Given the description of an element on the screen output the (x, y) to click on. 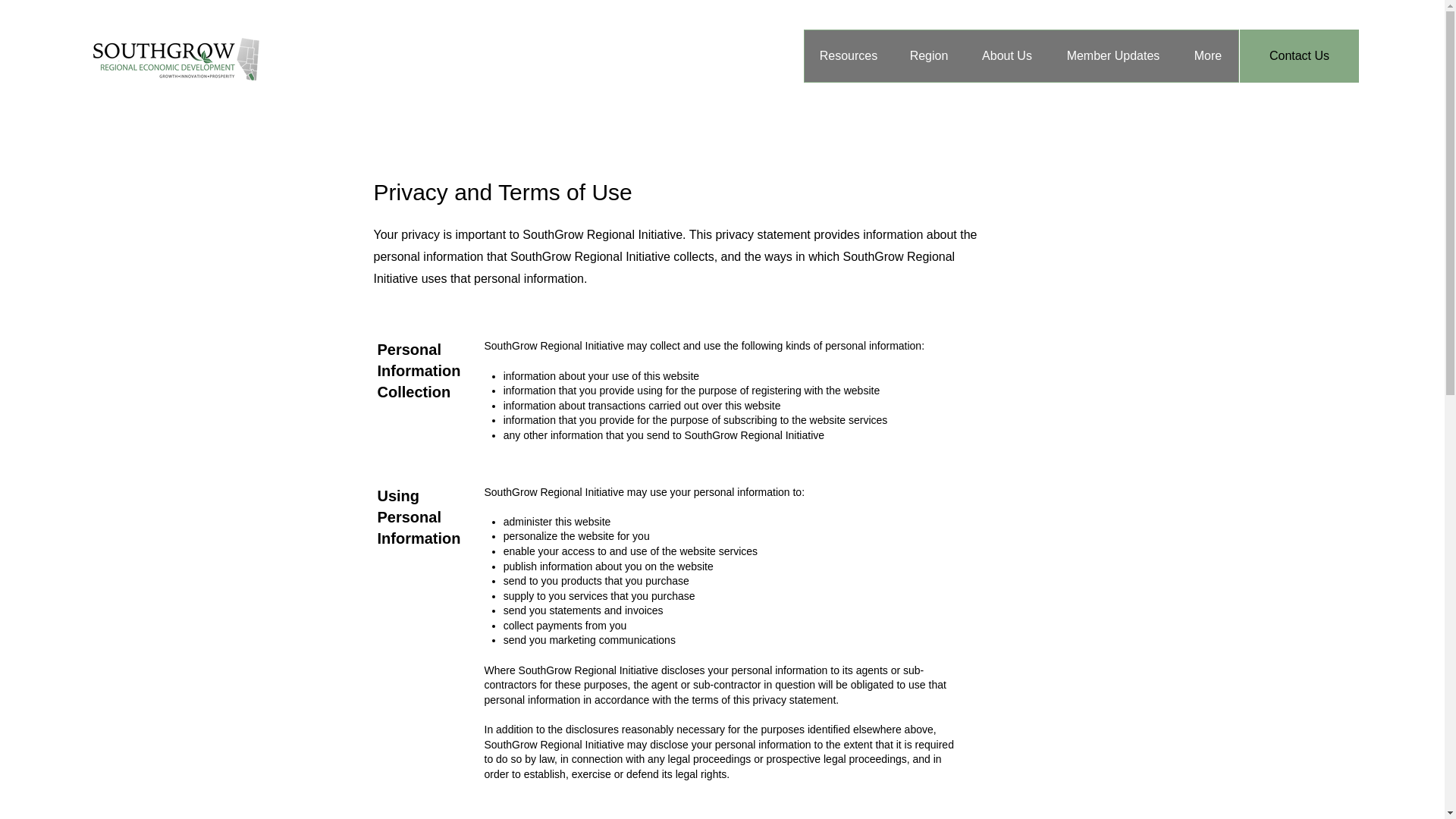
Contact Us (1299, 55)
Region (927, 55)
Member Updates (1112, 55)
Resources (848, 55)
About Us (1005, 55)
